Given the description of an element on the screen output the (x, y) to click on. 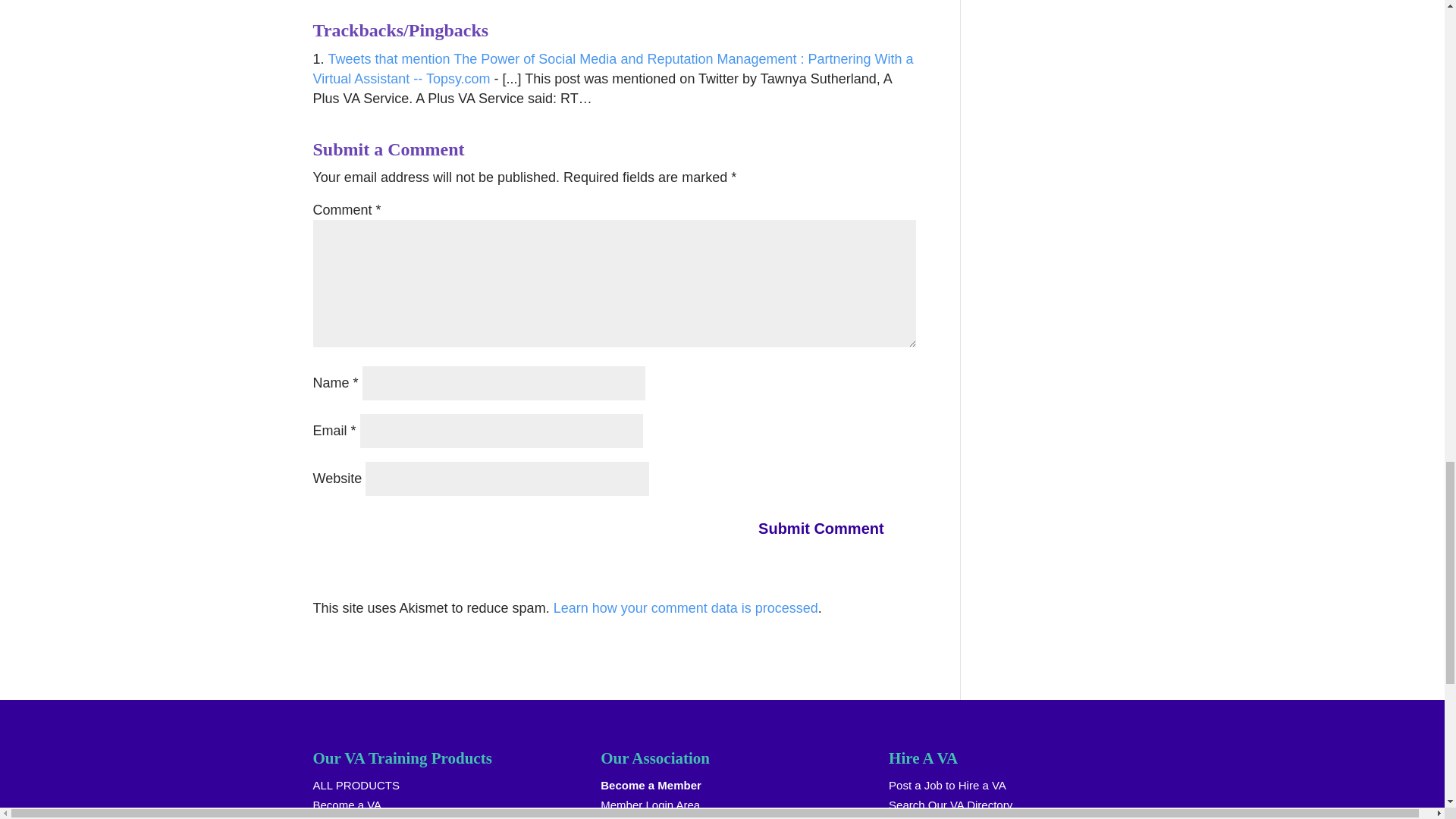
Learn how your comment data is processed (685, 607)
Submit Comment (830, 528)
Submit Comment (830, 528)
